Given the description of an element on the screen output the (x, y) to click on. 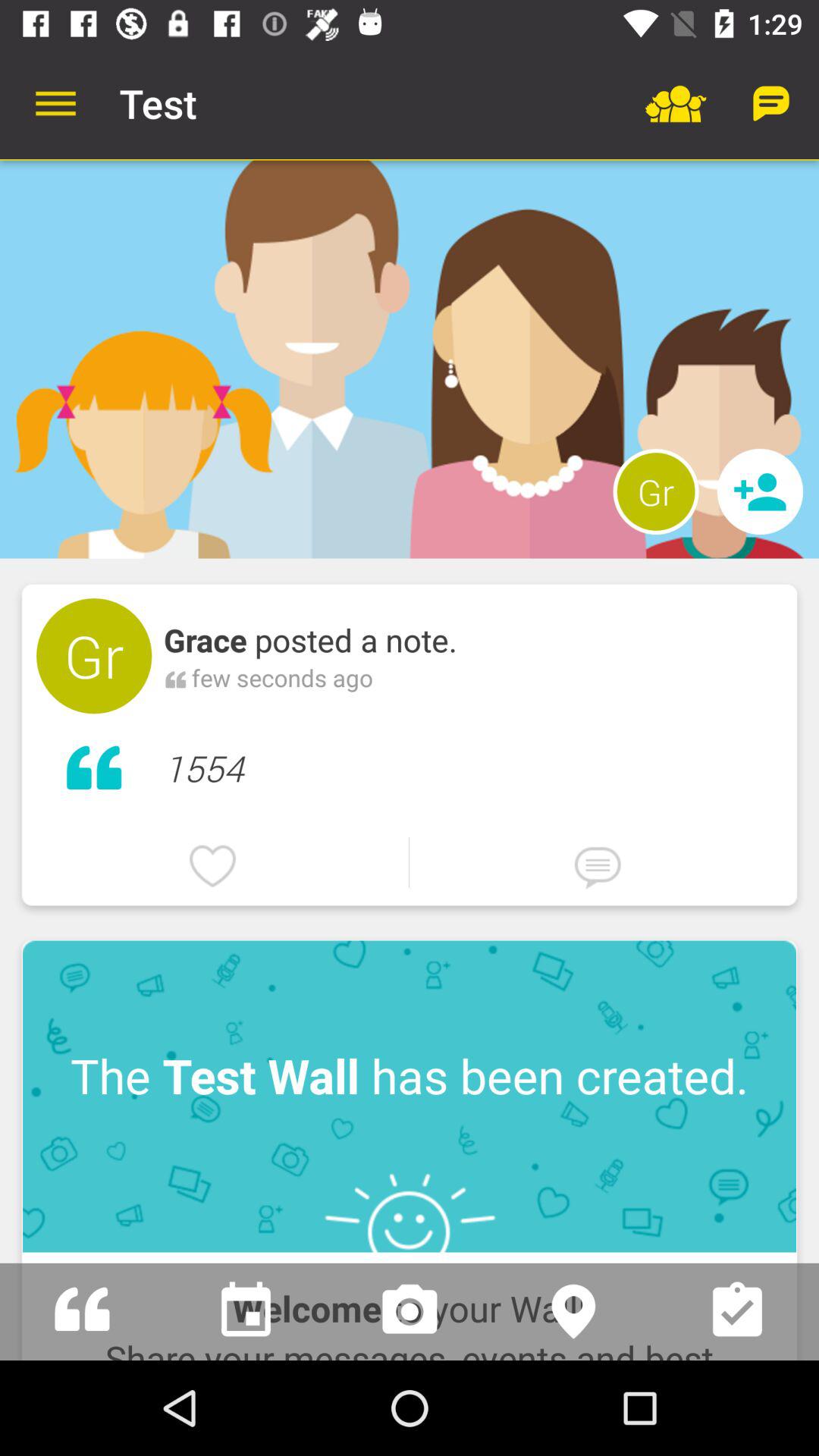
turn off item above the welcome to your (409, 1096)
